Given the description of an element on the screen output the (x, y) to click on. 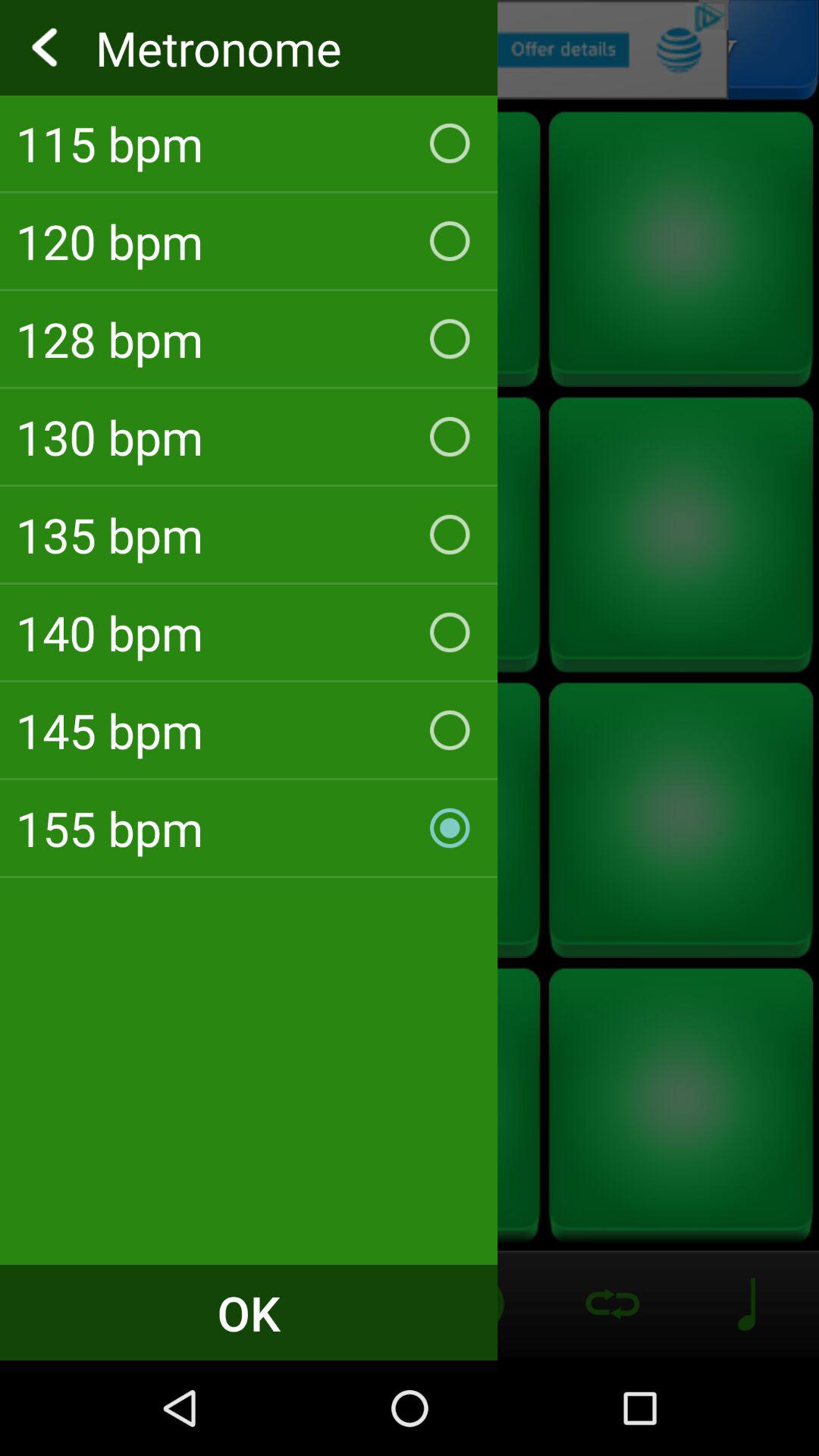
open the item at the bottom left corner (248, 1312)
